Given the description of an element on the screen output the (x, y) to click on. 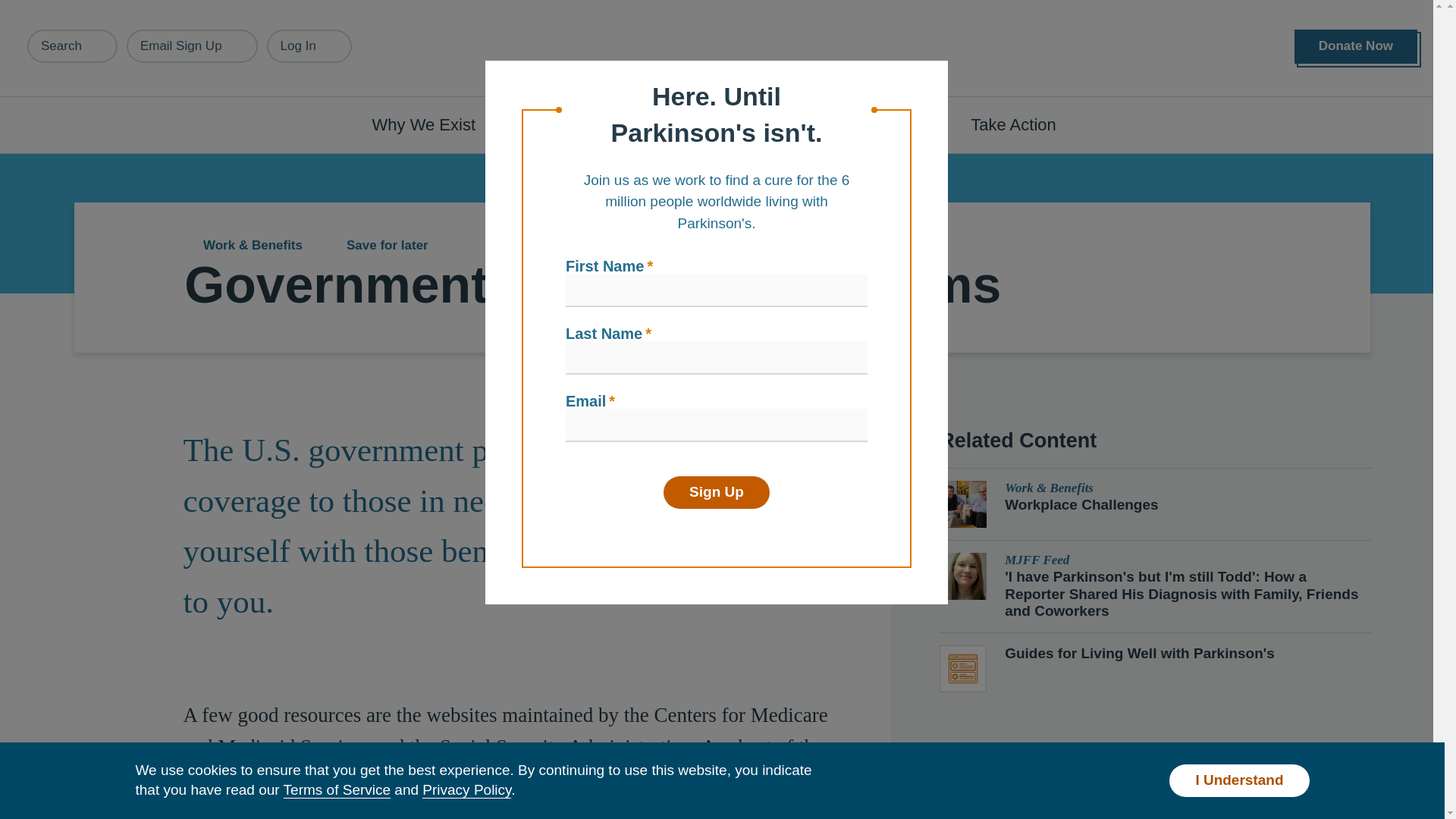
Home Page (722, 48)
Search (72, 46)
Why We Exist (432, 125)
Understanding Parkinson's (640, 125)
Email Sign Up (191, 46)
Skip to main content (96, 7)
Donate Now (1355, 46)
Log In (309, 46)
